Given the description of an element on the screen output the (x, y) to click on. 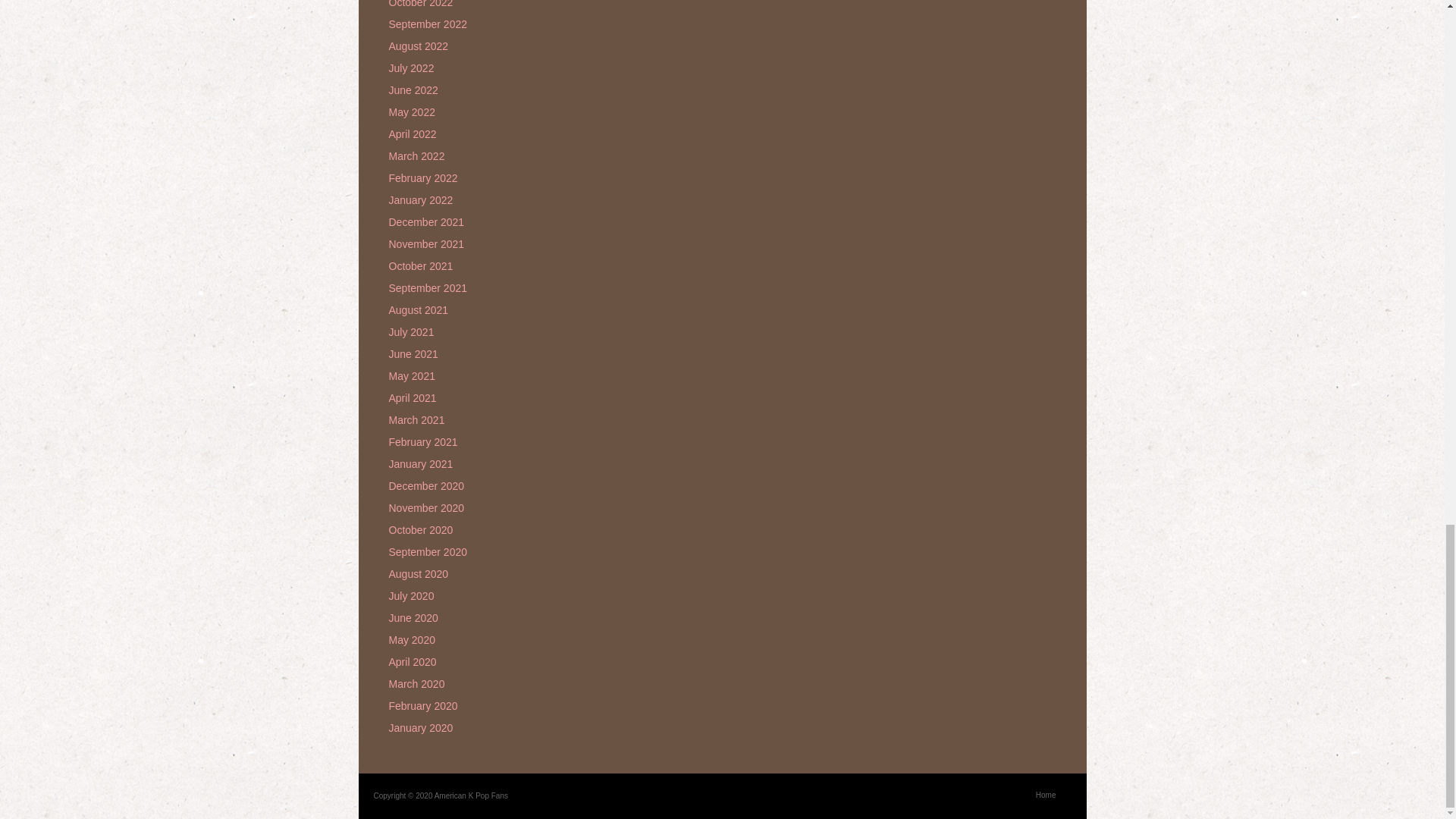
September 2022 (427, 24)
July 2022 (410, 68)
October 2022 (420, 4)
August 2022 (418, 46)
